Given the description of an element on the screen output the (x, y) to click on. 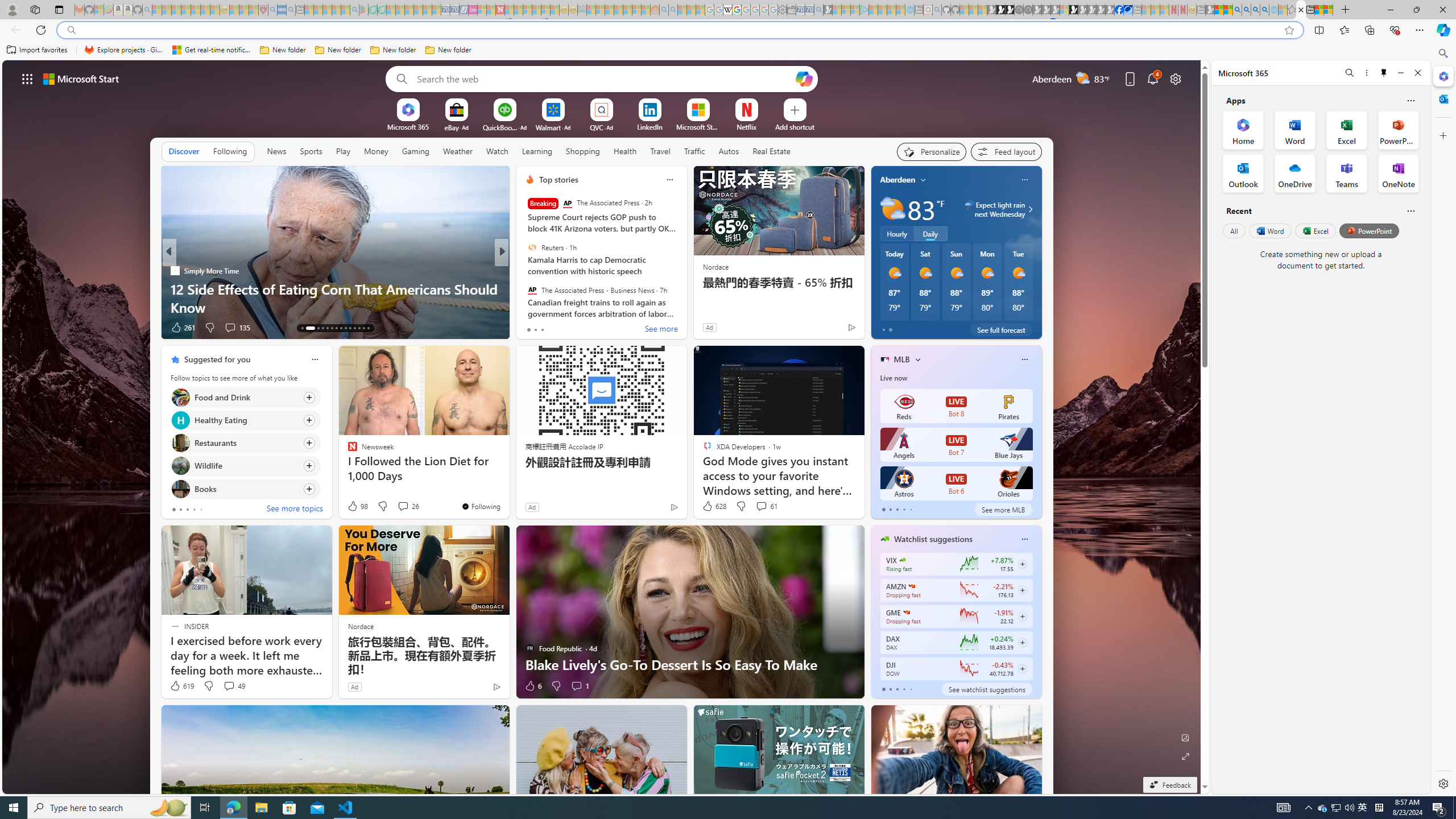
View comments 3 Comment (576, 327)
github - Search - Sleeping (936, 9)
More interests (917, 359)
tab-0 (882, 689)
View comments 81 Comment (585, 327)
